Given the description of an element on the screen output the (x, y) to click on. 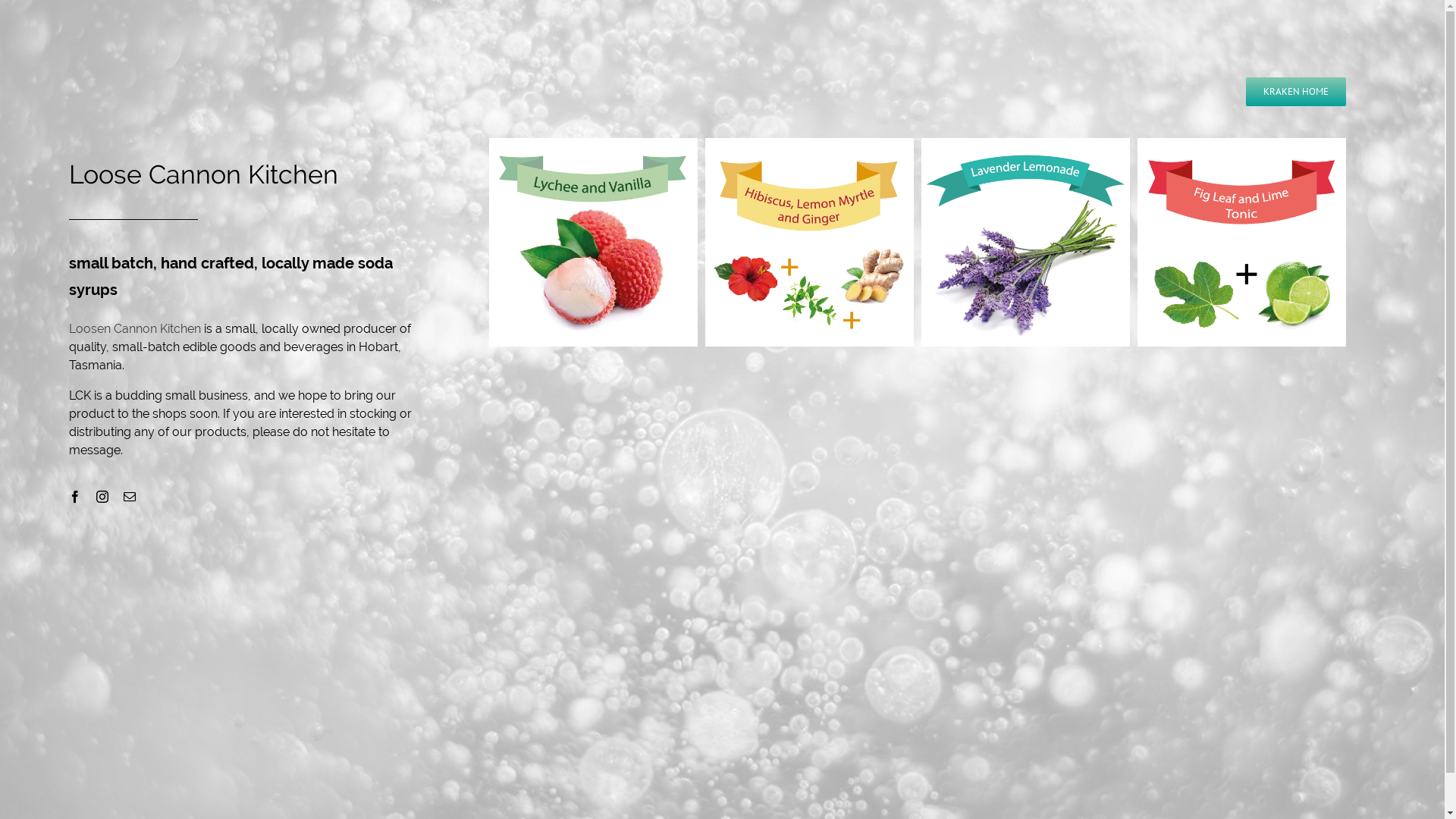
Loosen Cannon Kitchen Element type: text (134, 328)
KRAKEN HOME Element type: text (1295, 91)
Fig Leaf and Lime Element type: hover (1241, 242)
Lychee and Vanilla Element type: hover (593, 242)
Lavender Lemonade Element type: hover (1025, 242)
Hibiscus, Lemon Myrtle, and Ginger Element type: hover (809, 242)
